Given the description of an element on the screen output the (x, y) to click on. 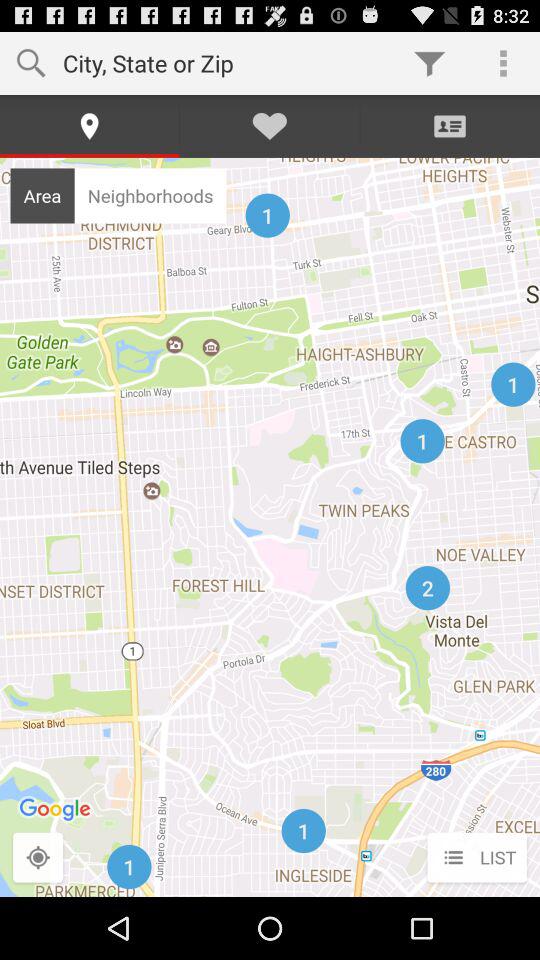
click the app to the right of the city state or icon (429, 62)
